Given the description of an element on the screen output the (x, y) to click on. 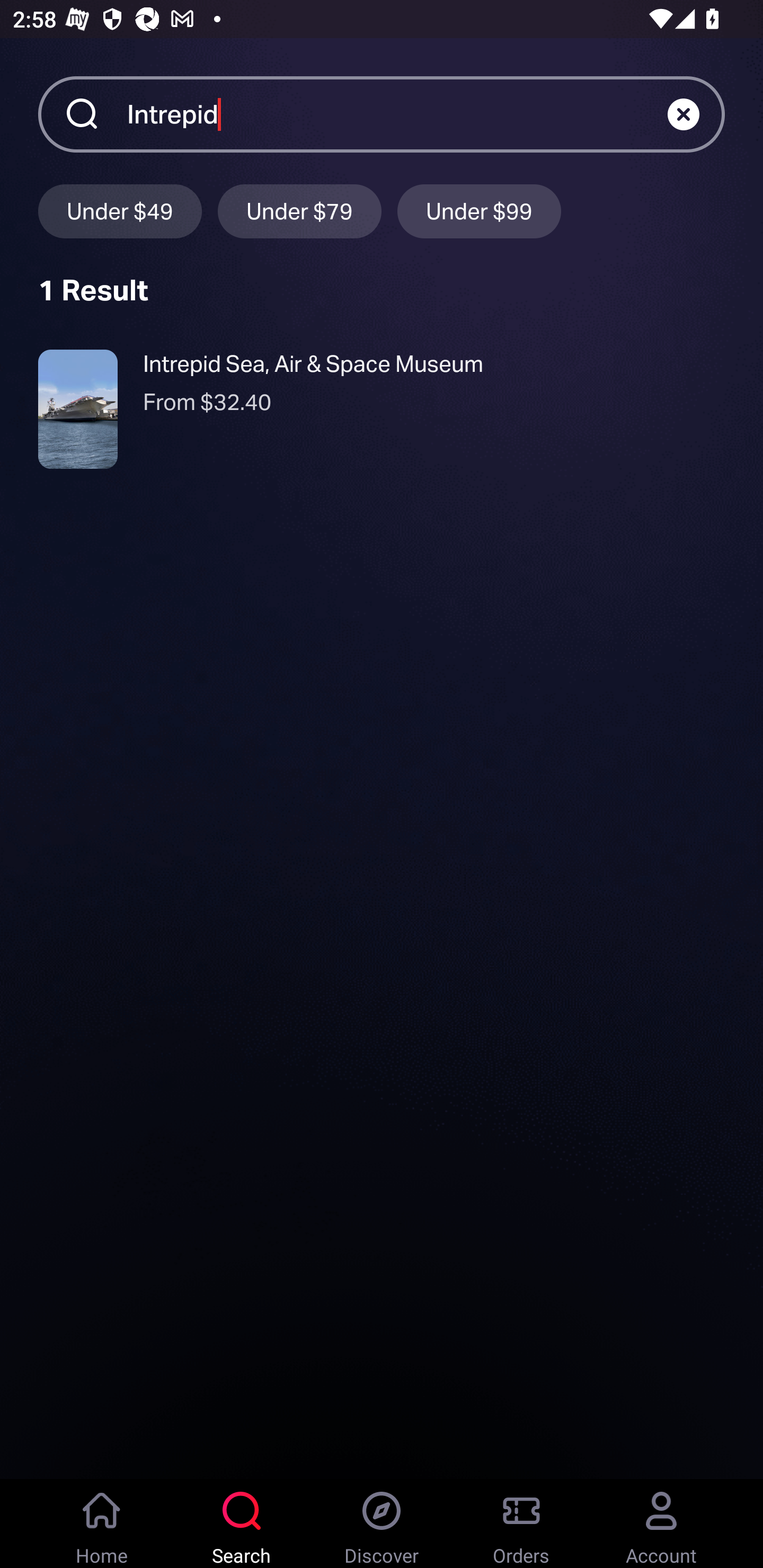
Intrepid (397, 113)
Under $49 (120, 211)
Under $79 (299, 211)
Under $99 (478, 211)
Home (101, 1523)
Discover (381, 1523)
Orders (521, 1523)
Account (660, 1523)
